Given the description of an element on the screen output the (x, y) to click on. 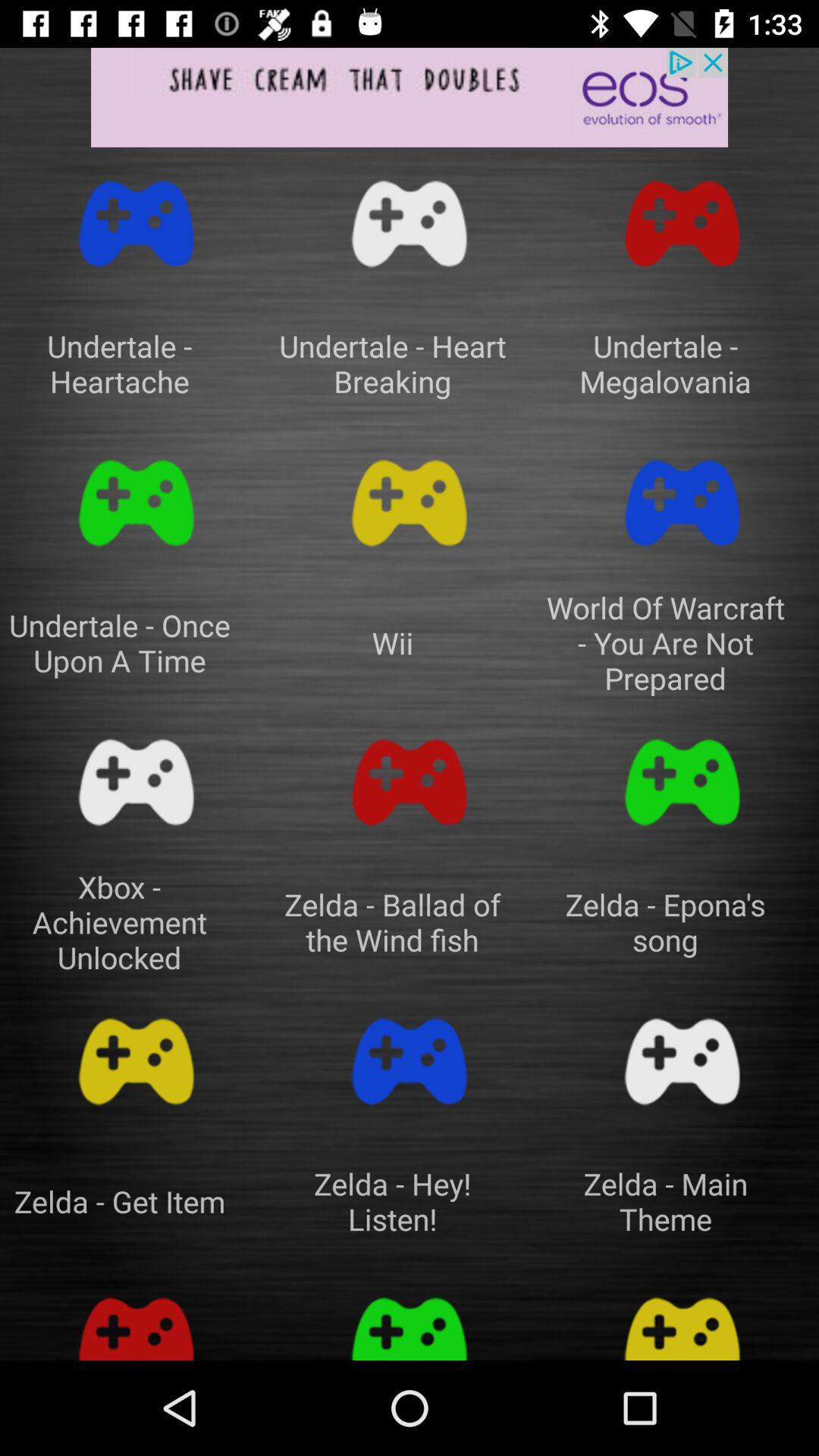
select zelda hey listen option (409, 1061)
